Given the description of an element on the screen output the (x, y) to click on. 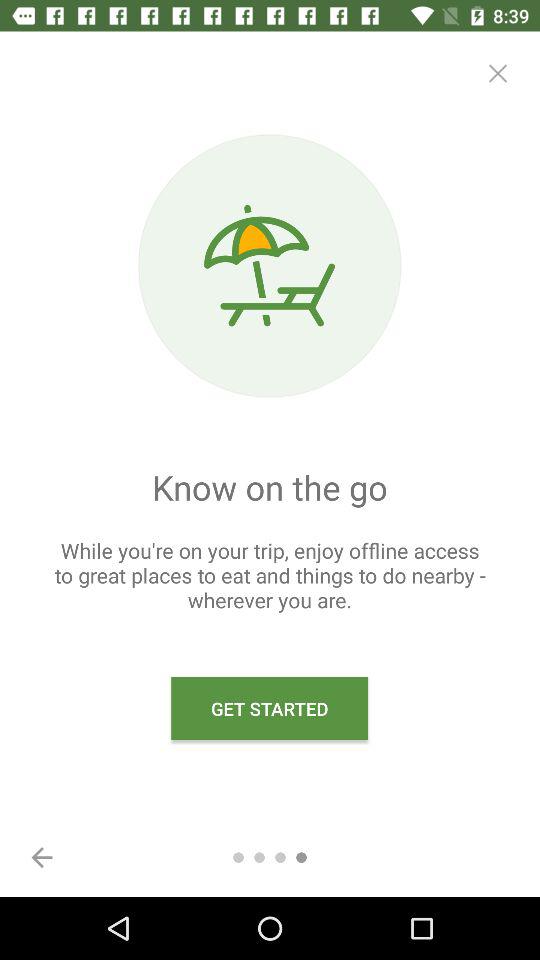
open the item below the while you re (269, 708)
